Given the description of an element on the screen output the (x, y) to click on. 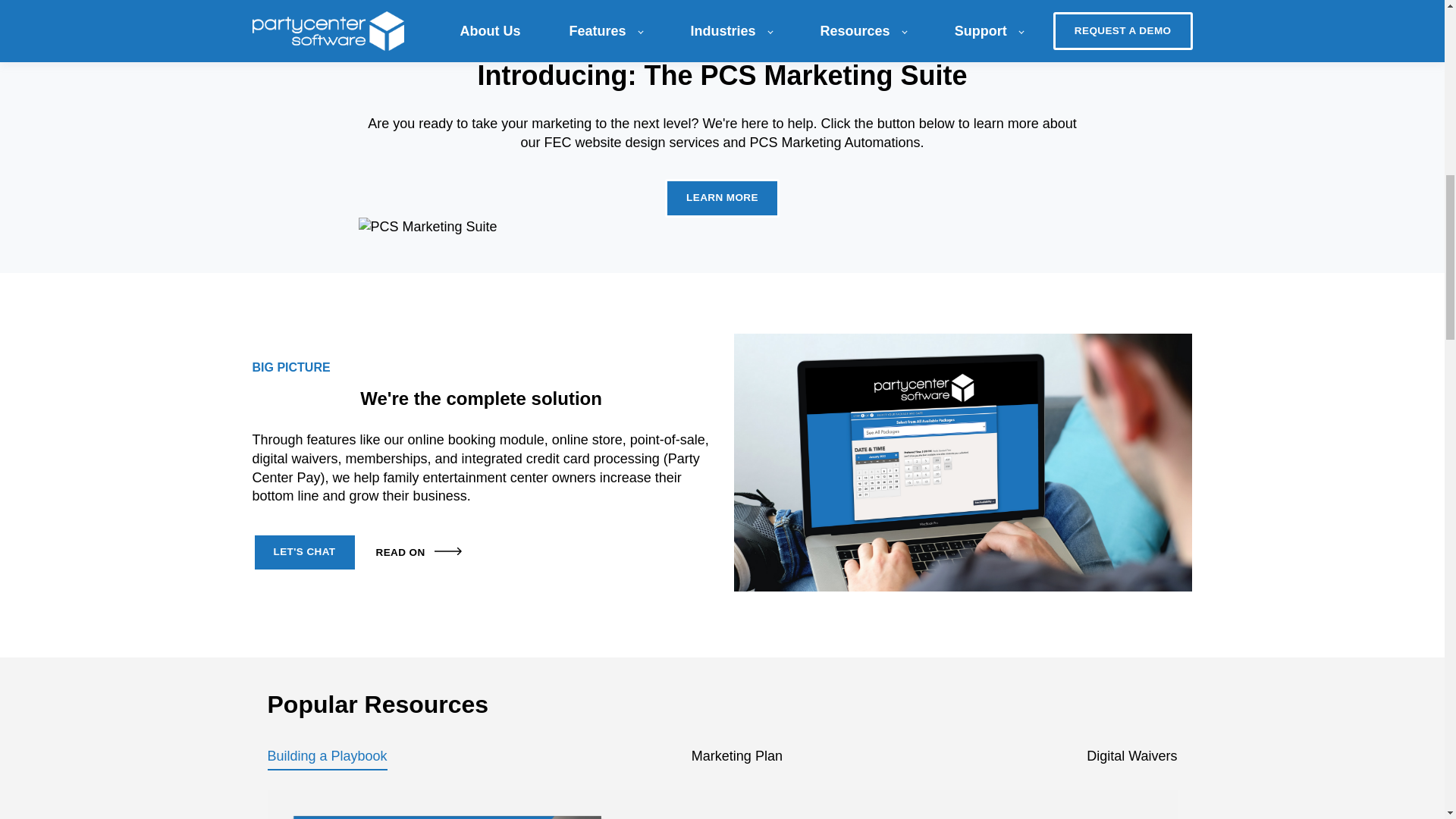
Website Graphic - Photo with Laptop - 1 - 2022 (962, 462)
